Given the description of an element on the screen output the (x, y) to click on. 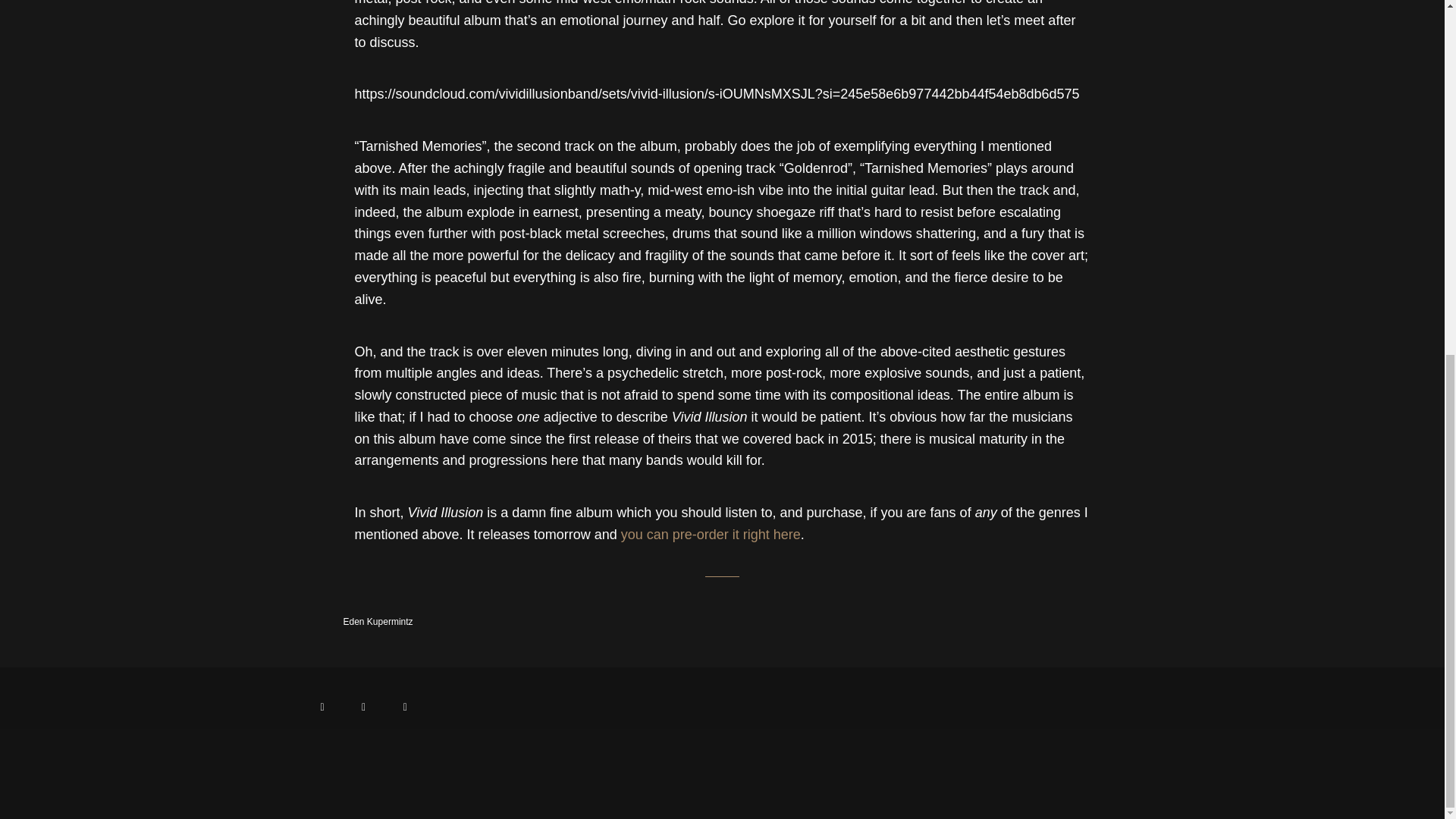
Eden Kupermintz (354, 621)
you can pre-order it right here (710, 535)
